Given the description of an element on the screen output the (x, y) to click on. 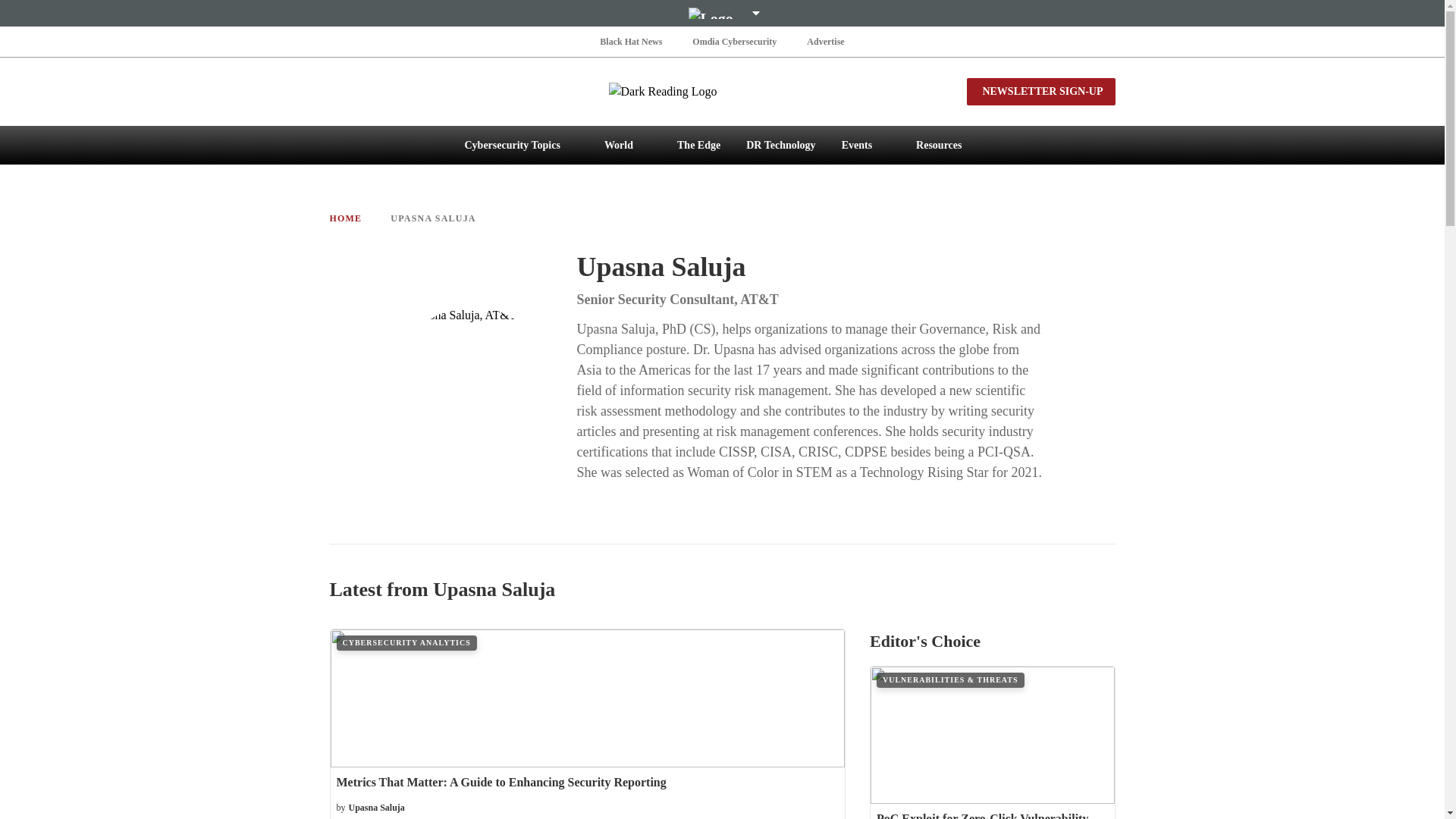
Advertise (825, 41)
Omdia Cybersecurity (733, 41)
NEWSLETTER SIGN-UP (1040, 90)
Black Hat News (630, 41)
Dark Reading Logo (721, 91)
